Given the description of an element on the screen output the (x, y) to click on. 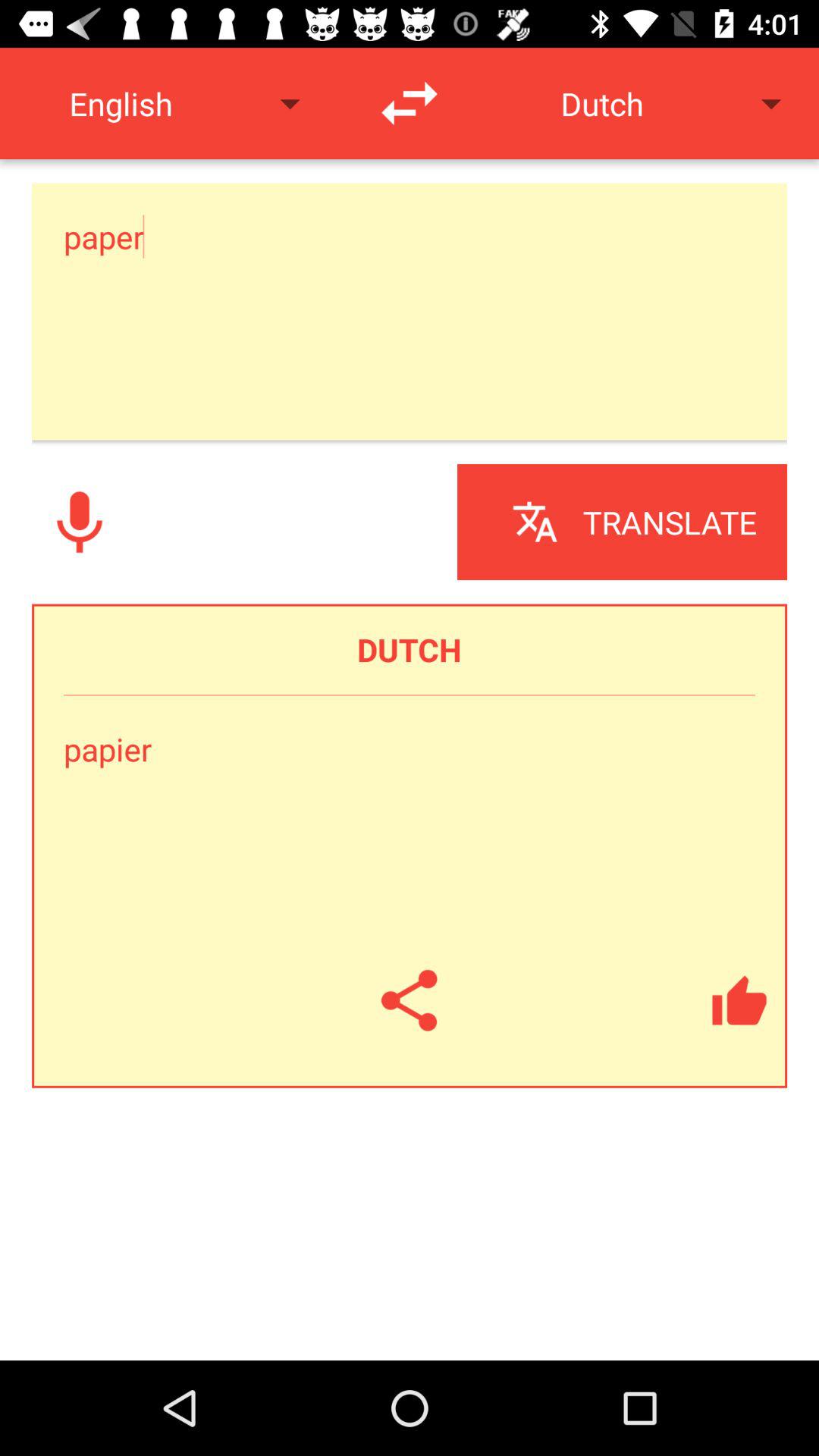
forwad (409, 103)
